Given the description of an element on the screen output the (x, y) to click on. 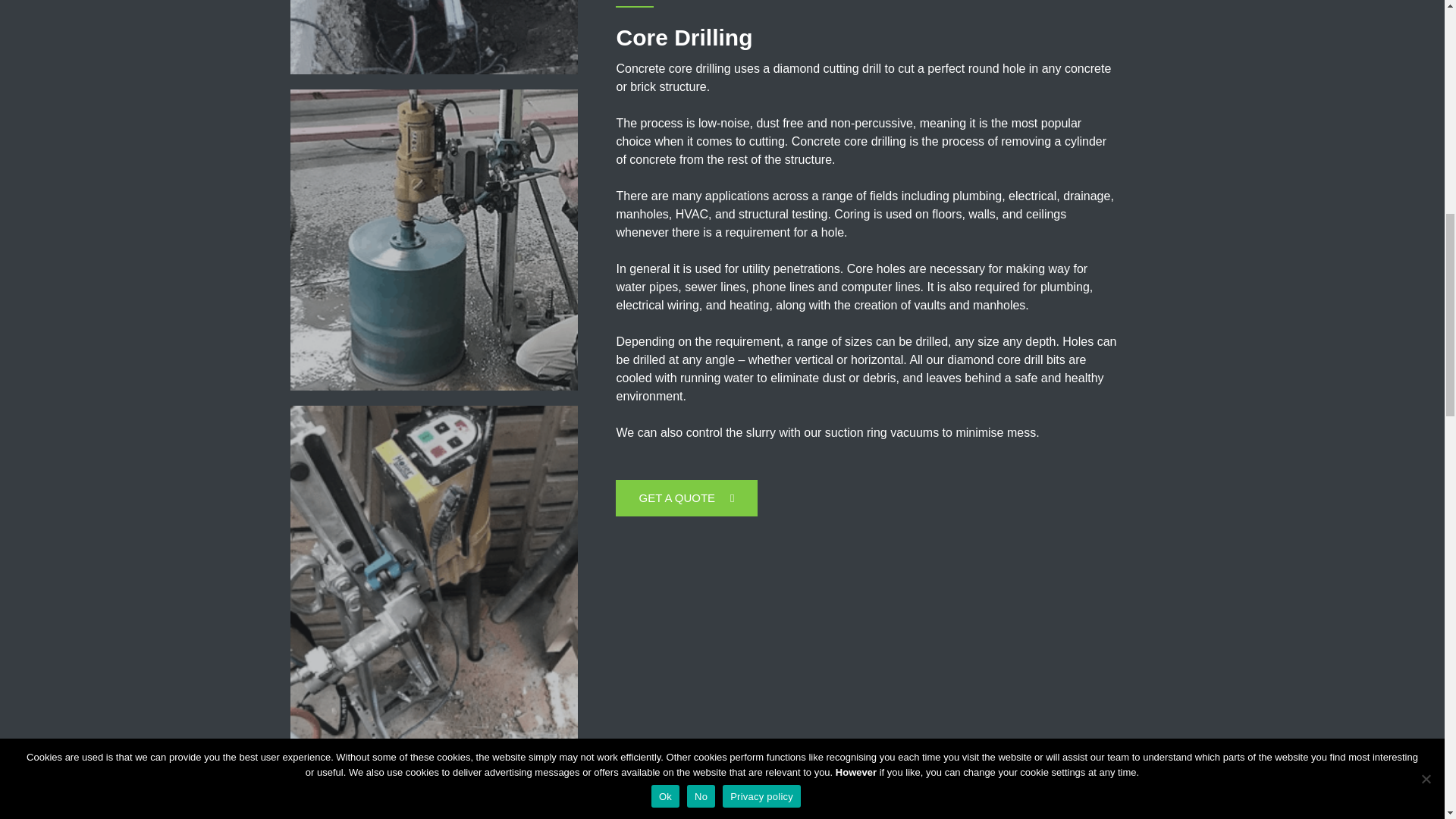
GET A QUOTE (686, 497)
